Given the description of an element on the screen output the (x, y) to click on. 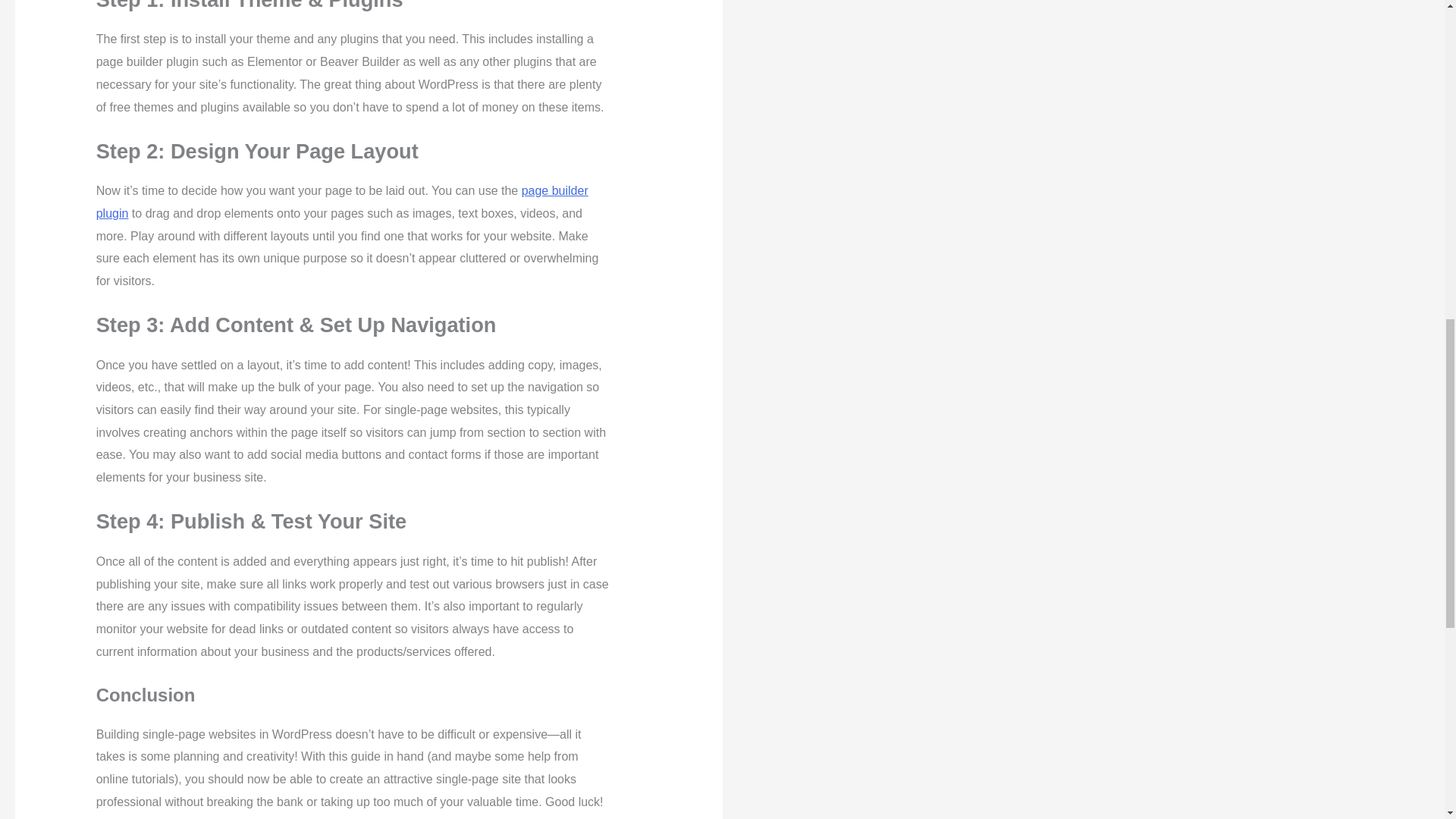
page builder plugin (342, 202)
